Given the description of an element on the screen output the (x, y) to click on. 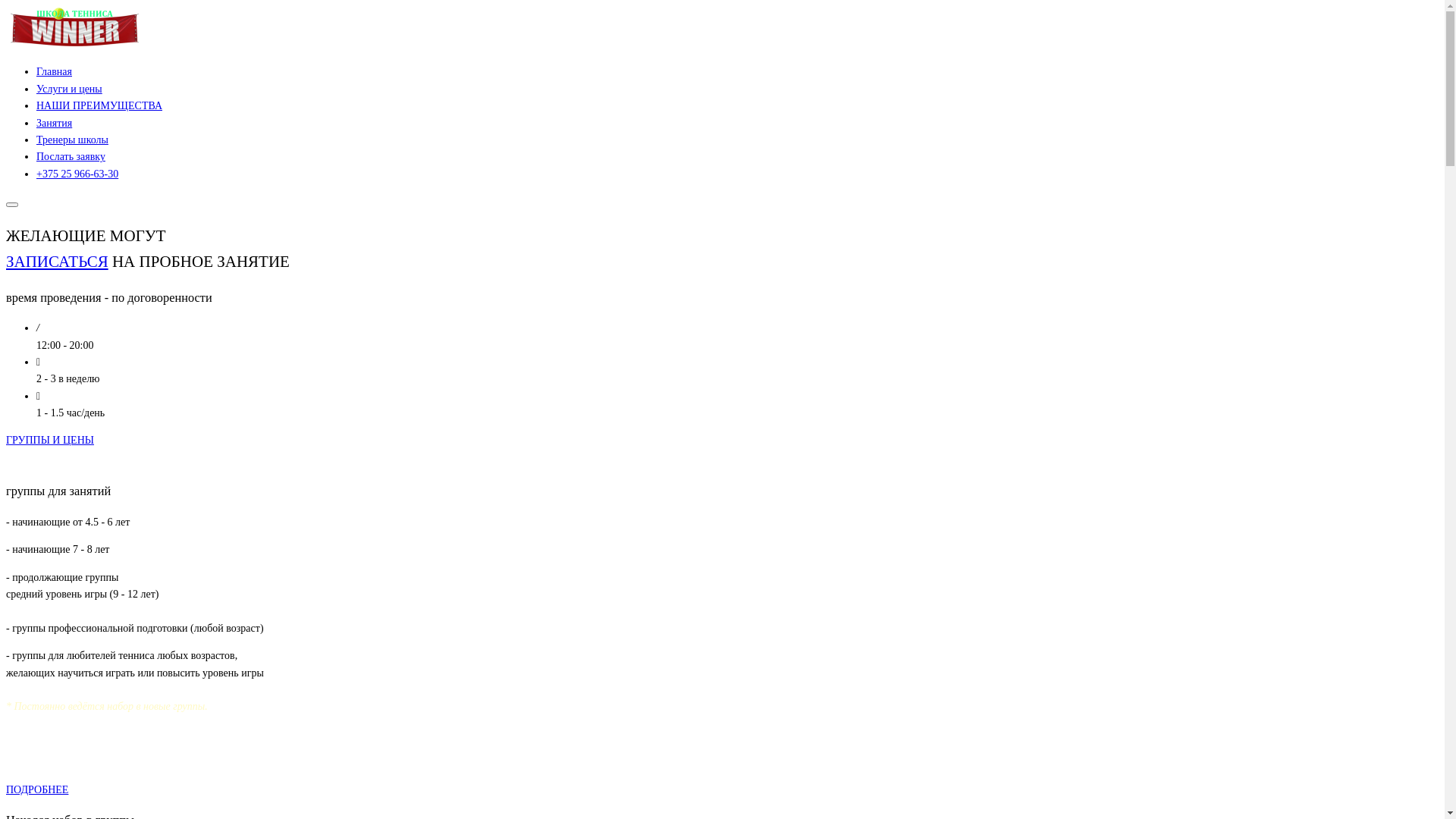
+375 25 966-63-30 Element type: text (77, 173)
